Given the description of an element on the screen output the (x, y) to click on. 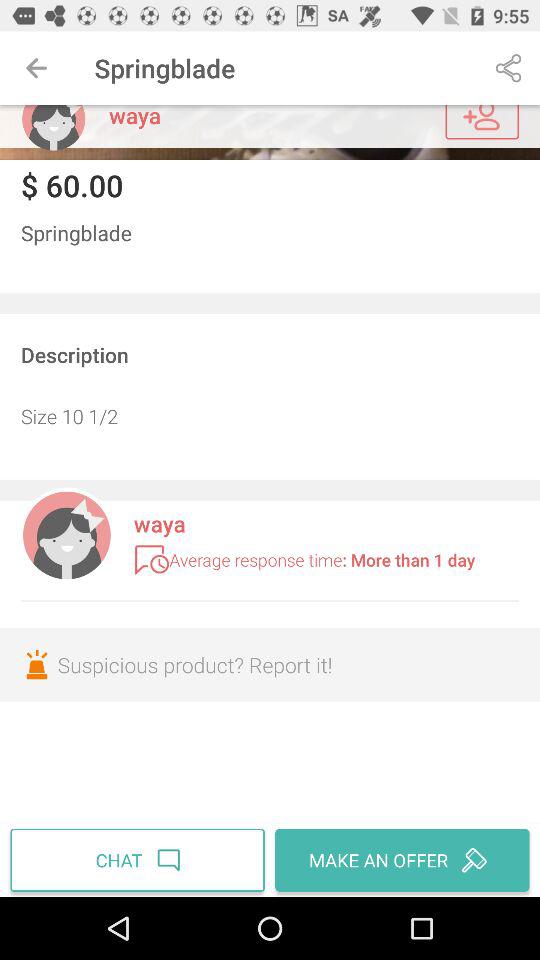
swipe until suspicious product report item (270, 664)
